Given the description of an element on the screen output the (x, y) to click on. 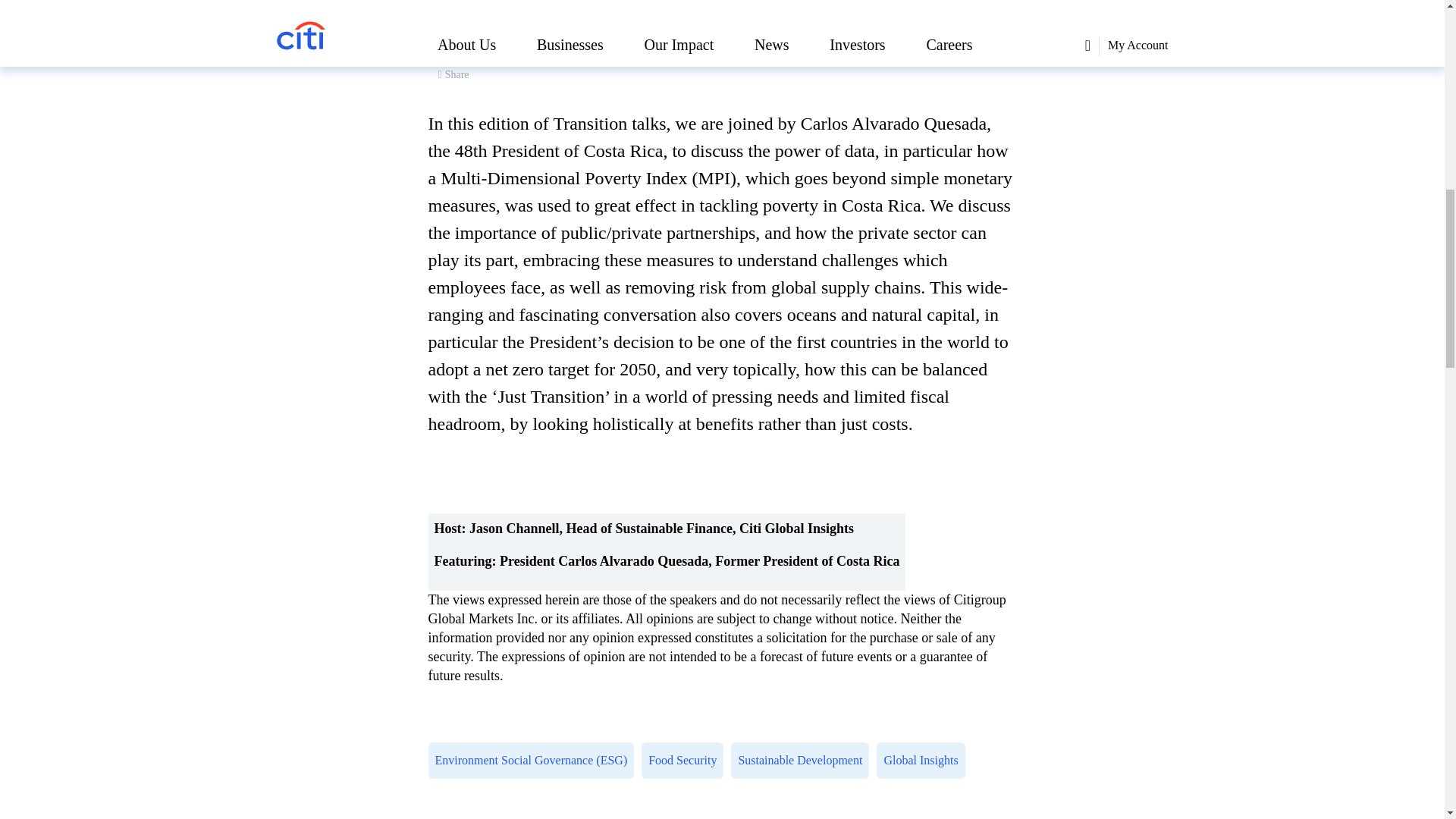
Food Security (682, 760)
Sustainable Development (803, 763)
Global Insights (919, 760)
Share (453, 74)
Sustainable Development (799, 760)
Food Security (686, 763)
Global Insights (924, 763)
